Given the description of an element on the screen output the (x, y) to click on. 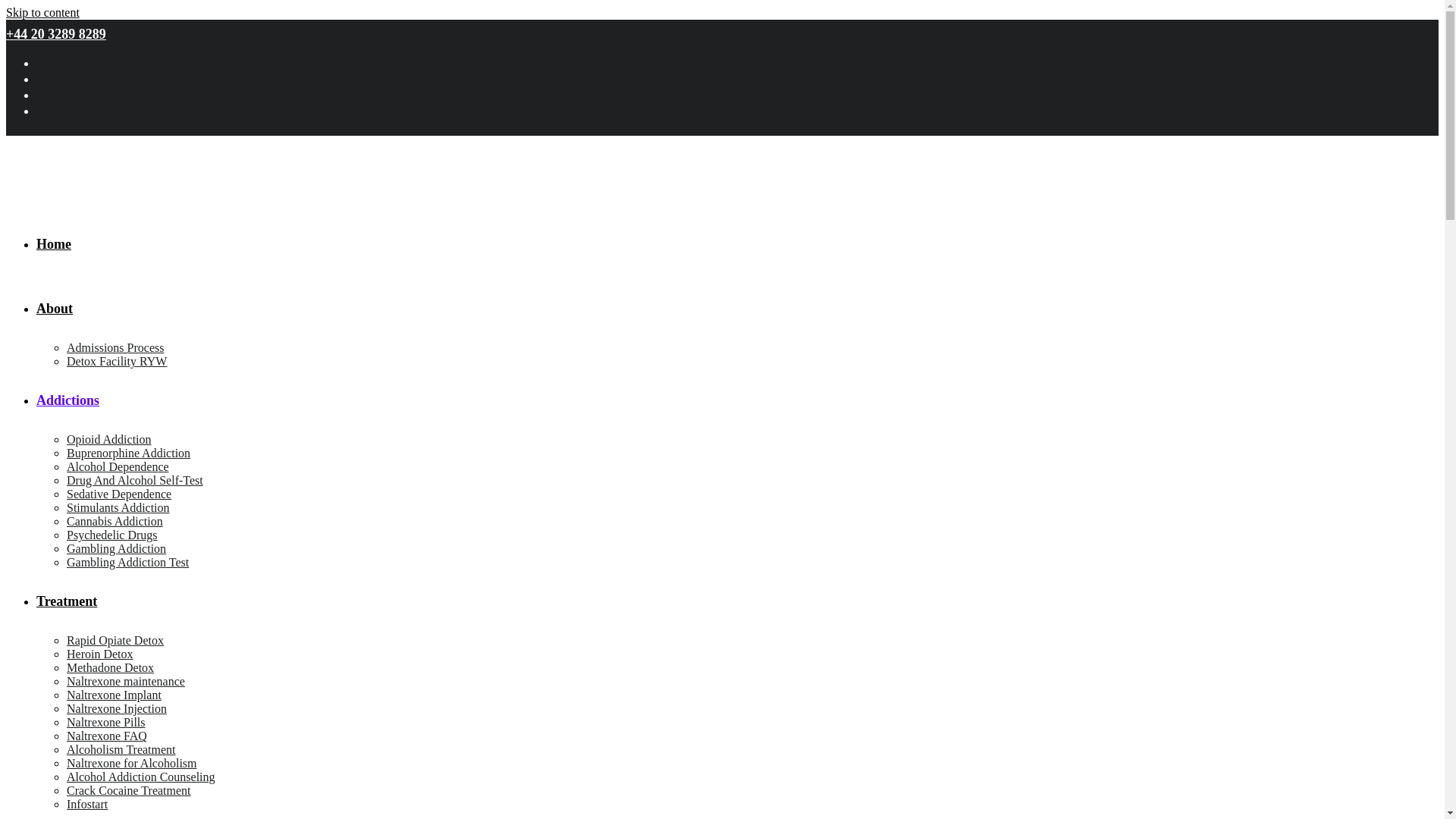
Stimulants Addiction (118, 507)
Psychedelic Drugs (111, 534)
Gambling Addiction Test (127, 562)
Addictions (67, 400)
Naltrexone maintenance (125, 680)
Methadone Detox (110, 667)
Cannabis Addiction (114, 521)
About (54, 308)
Heroin Detox (99, 653)
Alcoholism Treatment (121, 748)
